Given the description of an element on the screen output the (x, y) to click on. 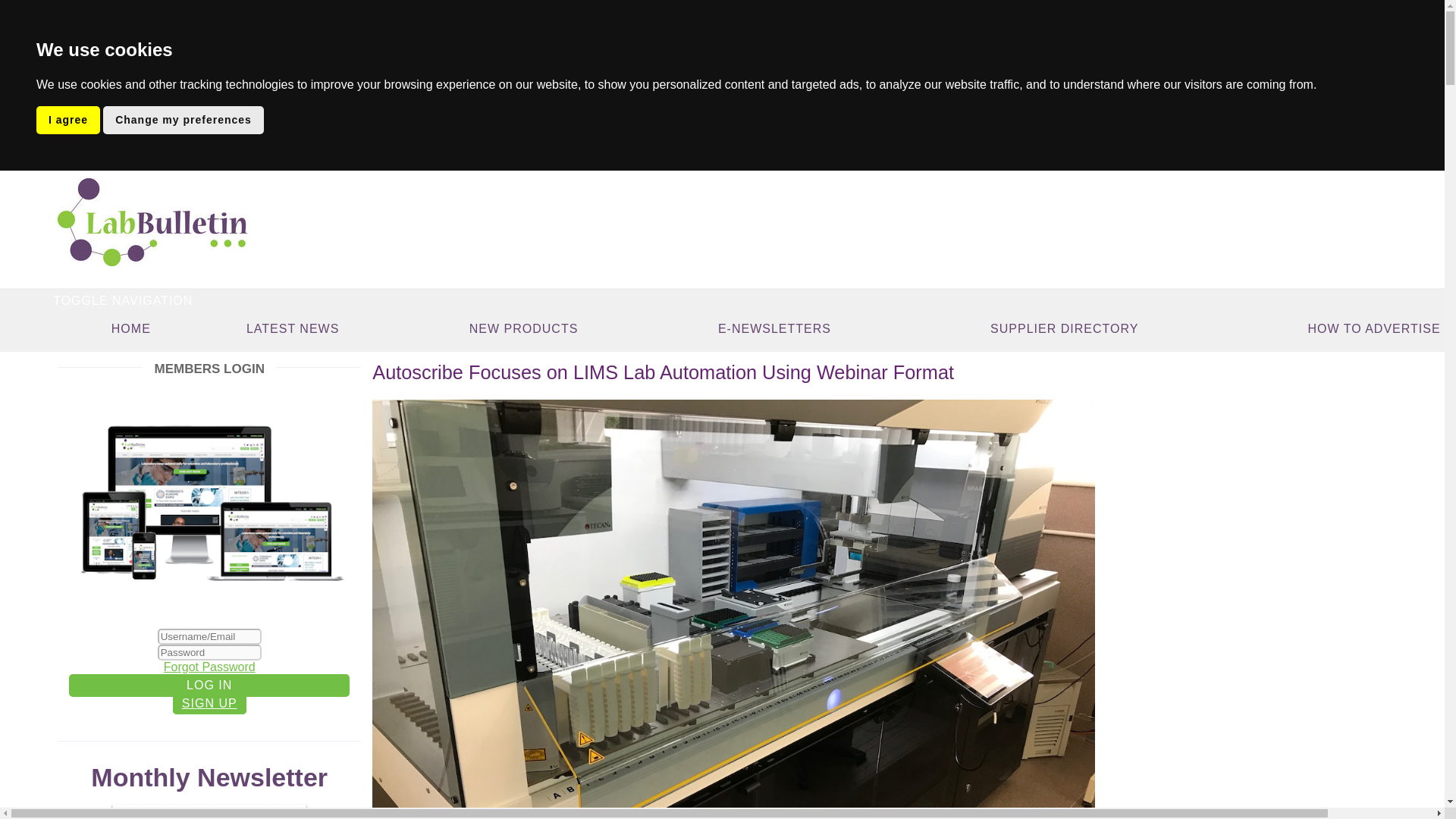
Read the latest issue of Lab Bulletin's monthly newsletter (208, 811)
SIGN UP (209, 703)
Forgot Password (209, 666)
HOW TO ADVERTISE (1373, 328)
NEW PRODUCTS (523, 328)
Log in (208, 685)
Logo (152, 222)
LATEST NEWS (292, 328)
E-NEWSLETTERS (774, 328)
I agree (68, 120)
Change my preferences (183, 120)
HOME (130, 328)
Log in (208, 685)
TOGGLE NAVIGATION (122, 300)
SUPPLIER DIRECTORY (1063, 328)
